Given the description of an element on the screen output the (x, y) to click on. 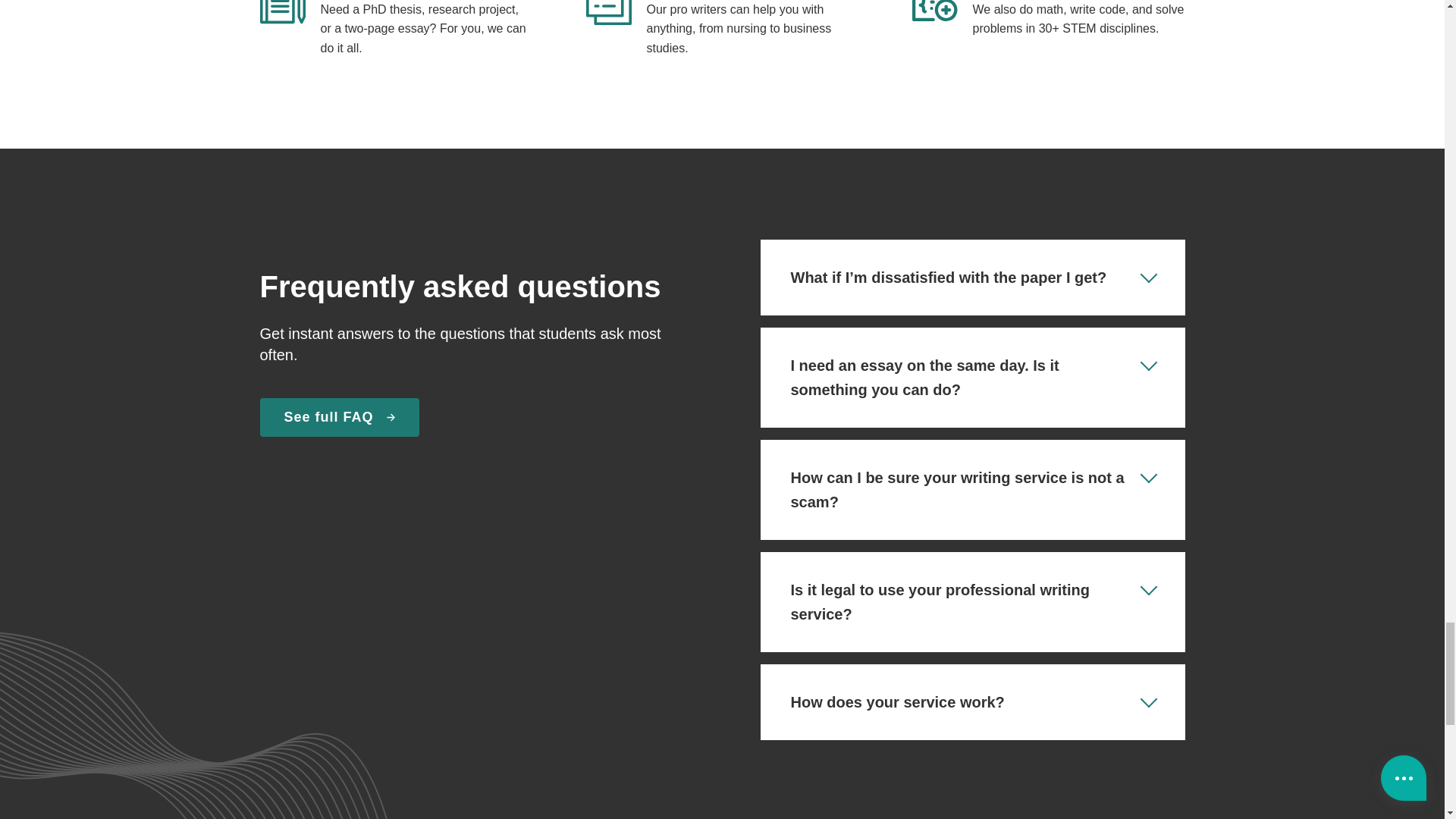
See full FAQ (339, 417)
